Given the description of an element on the screen output the (x, y) to click on. 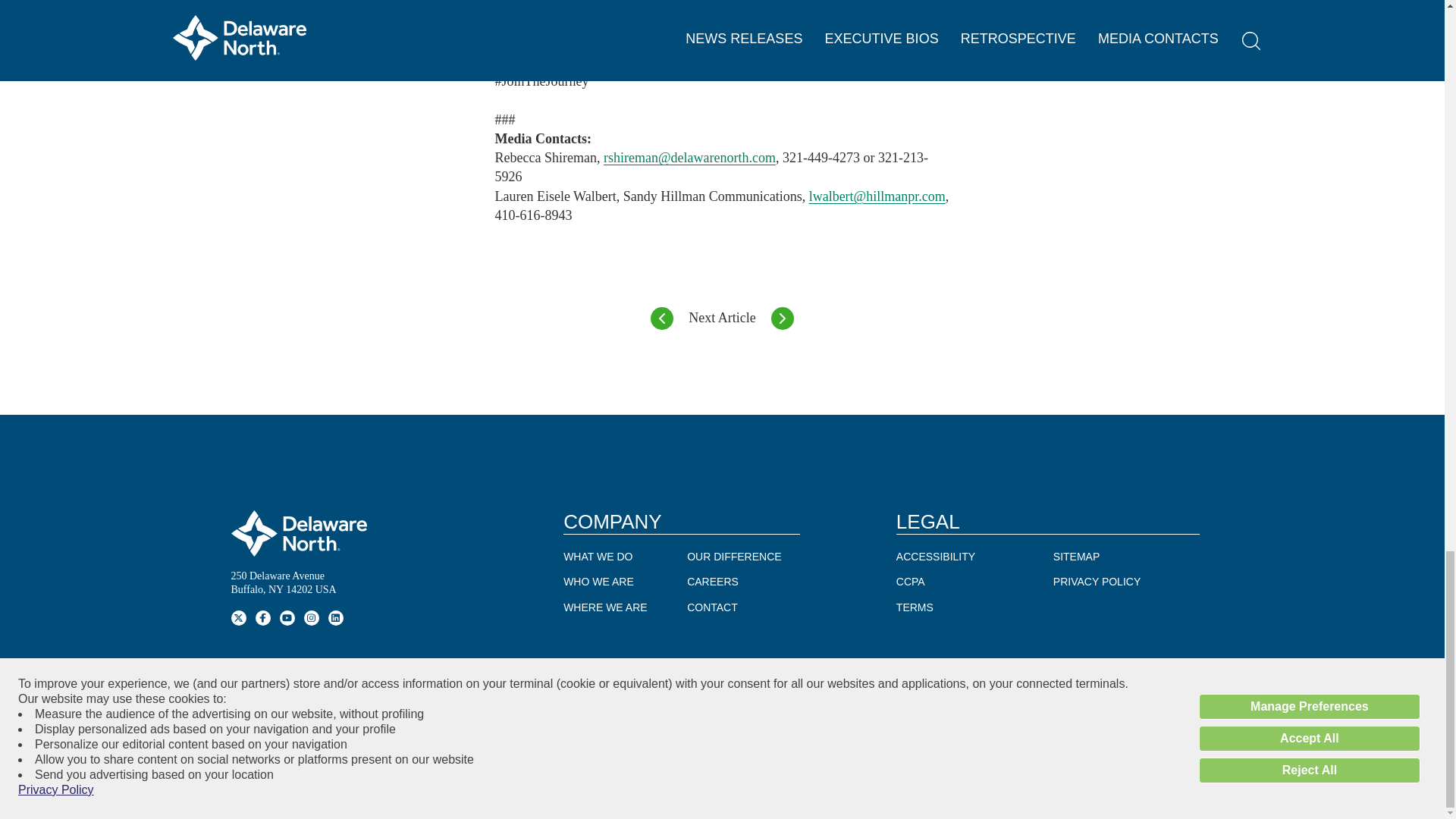
WHO WE ARE (598, 582)
ACCESSIBILITY (935, 557)
OUR DIFFERENCE (733, 557)
WHERE WE ARE (604, 607)
WHAT WE DO (597, 557)
www.KennedySpaceCenter.com (583, 6)
CAREERS (712, 582)
CONTACT (712, 607)
